Given the description of an element on the screen output the (x, y) to click on. 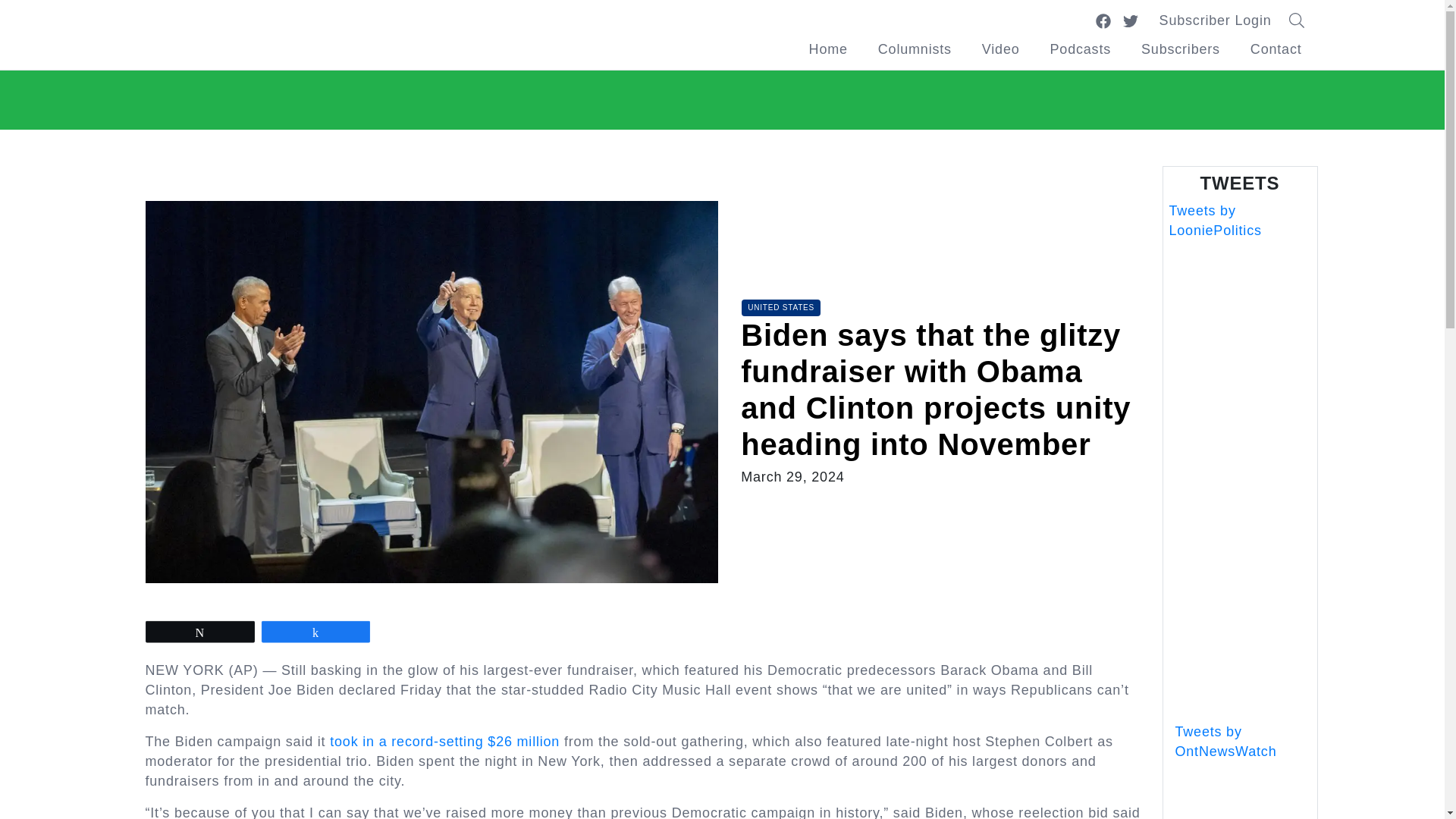
Columnists (914, 49)
Subscriber Login (1215, 20)
Tweets by OntNewsWatch (1225, 741)
Contact (1275, 49)
Tweets by LooniePolitics (1215, 220)
UNITED STATES (780, 307)
Video (1000, 49)
Home (828, 49)
Podcasts (1080, 49)
Subscribers (1179, 49)
